Given the description of an element on the screen output the (x, y) to click on. 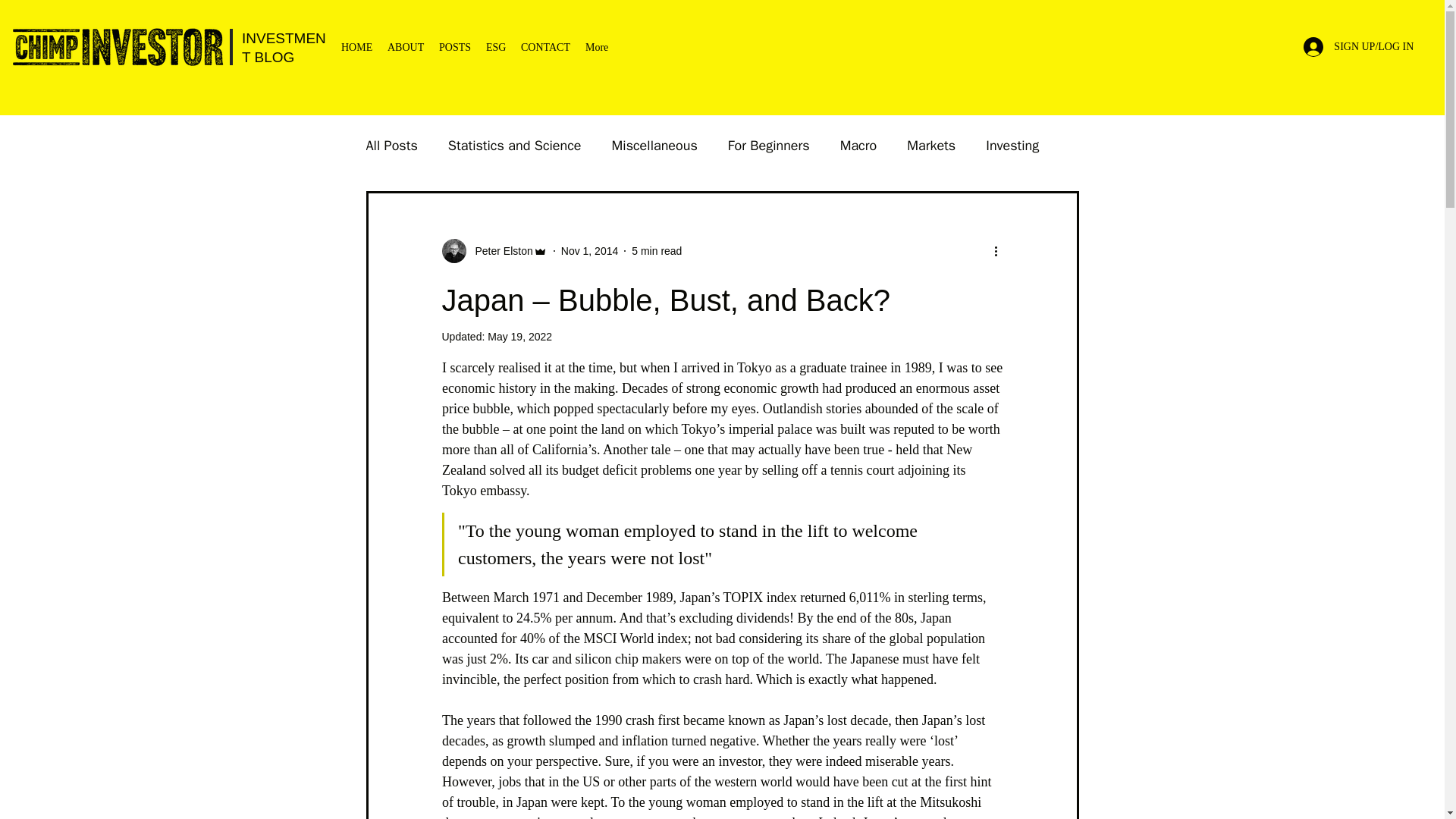
Peter Elston (498, 251)
For Beginners (768, 145)
Investing (1012, 145)
All Posts (390, 145)
HOME (356, 47)
Peter Elston (494, 250)
Statistics and Science (514, 145)
Nov 1, 2014 (589, 250)
5 min read (656, 250)
May 19, 2022 (519, 336)
